Given the description of an element on the screen output the (x, y) to click on. 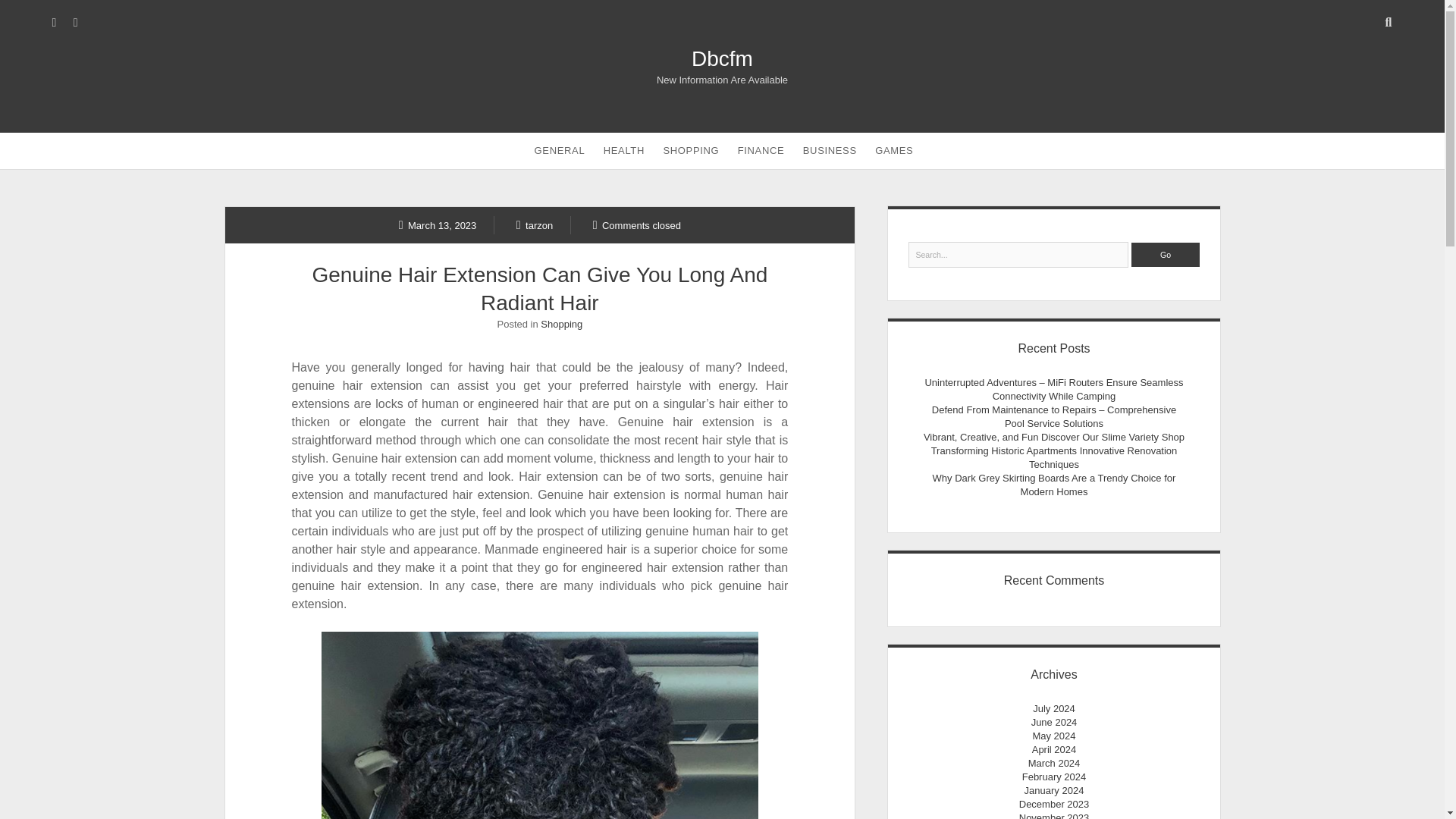
View all posts in Shopping (561, 324)
SHOPPING (690, 150)
November 2023 (1054, 815)
BUSINESS (829, 150)
June 2024 (1053, 722)
twitter (54, 22)
HEALTH (623, 150)
Shopping (561, 324)
February 2024 (1054, 776)
January 2024 (1054, 790)
Posts by tarzon (534, 224)
April 2024 (1054, 749)
tarzon (534, 224)
GENERAL (559, 150)
Go (1165, 254)
